Given the description of an element on the screen output the (x, y) to click on. 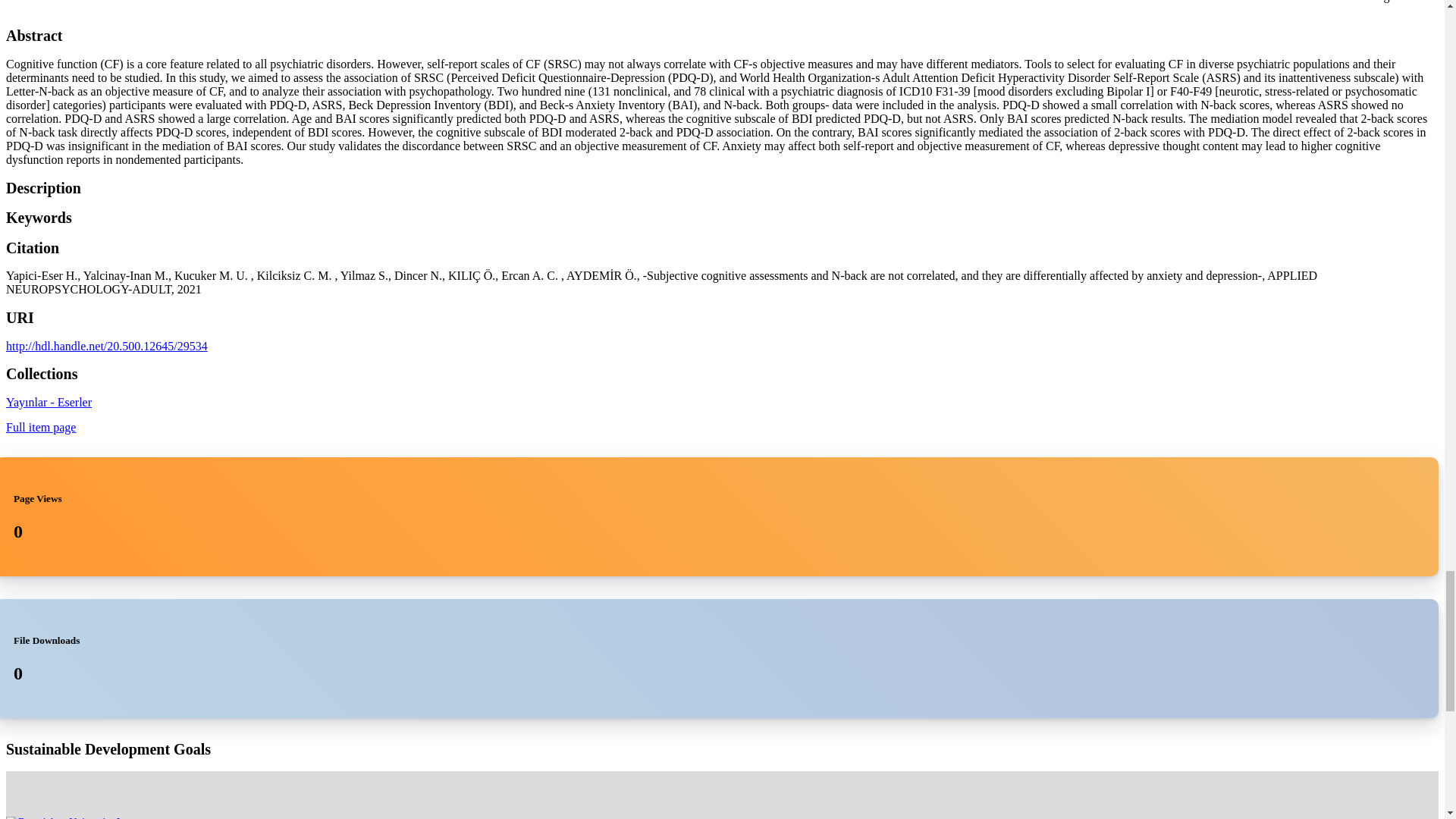
Full item page (40, 427)
